Given the description of an element on the screen output the (x, y) to click on. 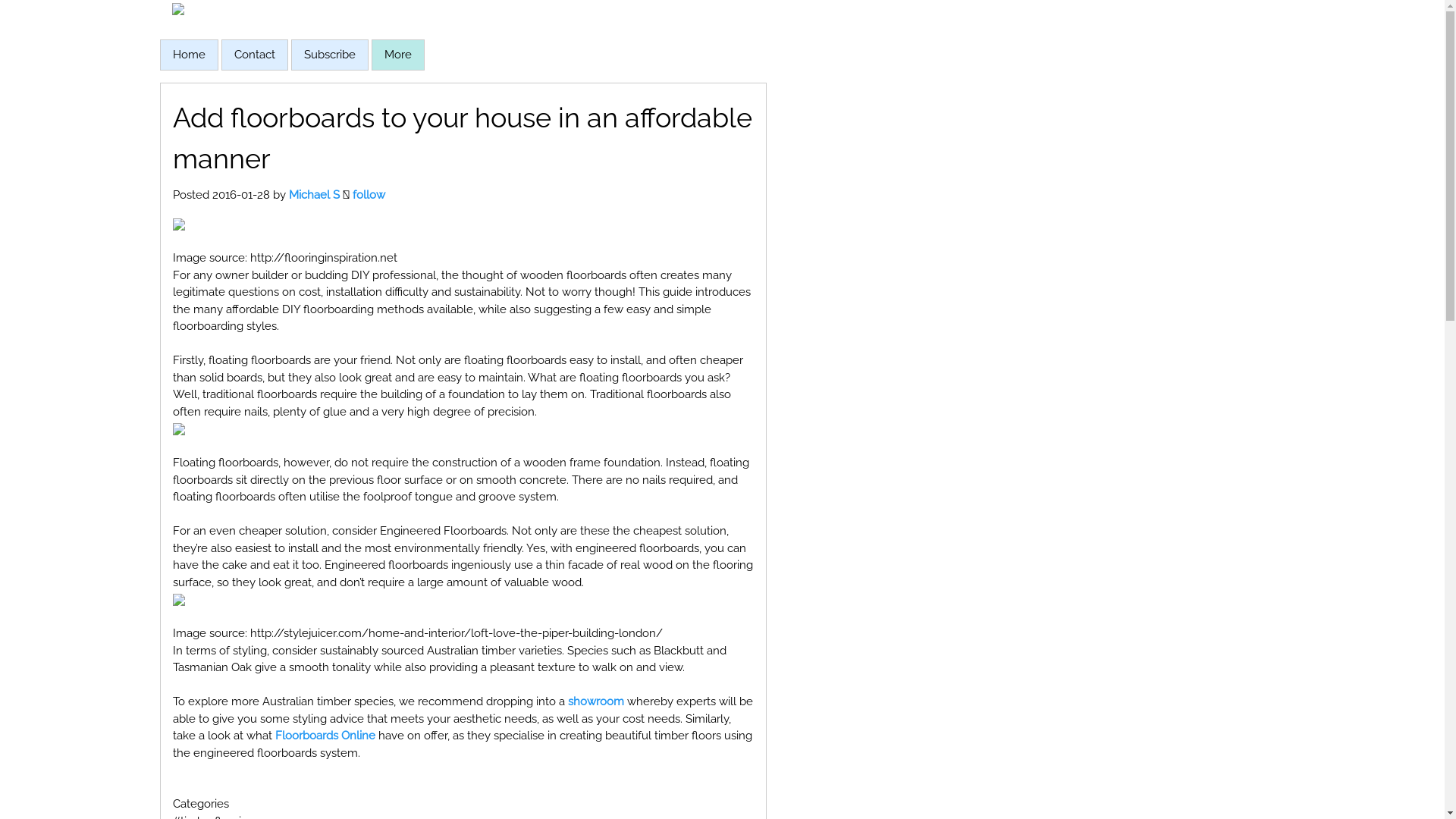
Home Element type: text (188, 54)
Floorboards Online Element type: text (324, 735)
Michael S Element type: text (313, 194)
follow Element type: text (367, 194)
Subscribe Element type: text (328, 54)
More Element type: text (397, 54)
Contact Element type: text (253, 54)
showroom Element type: text (595, 701)
